Given the description of an element on the screen output the (x, y) to click on. 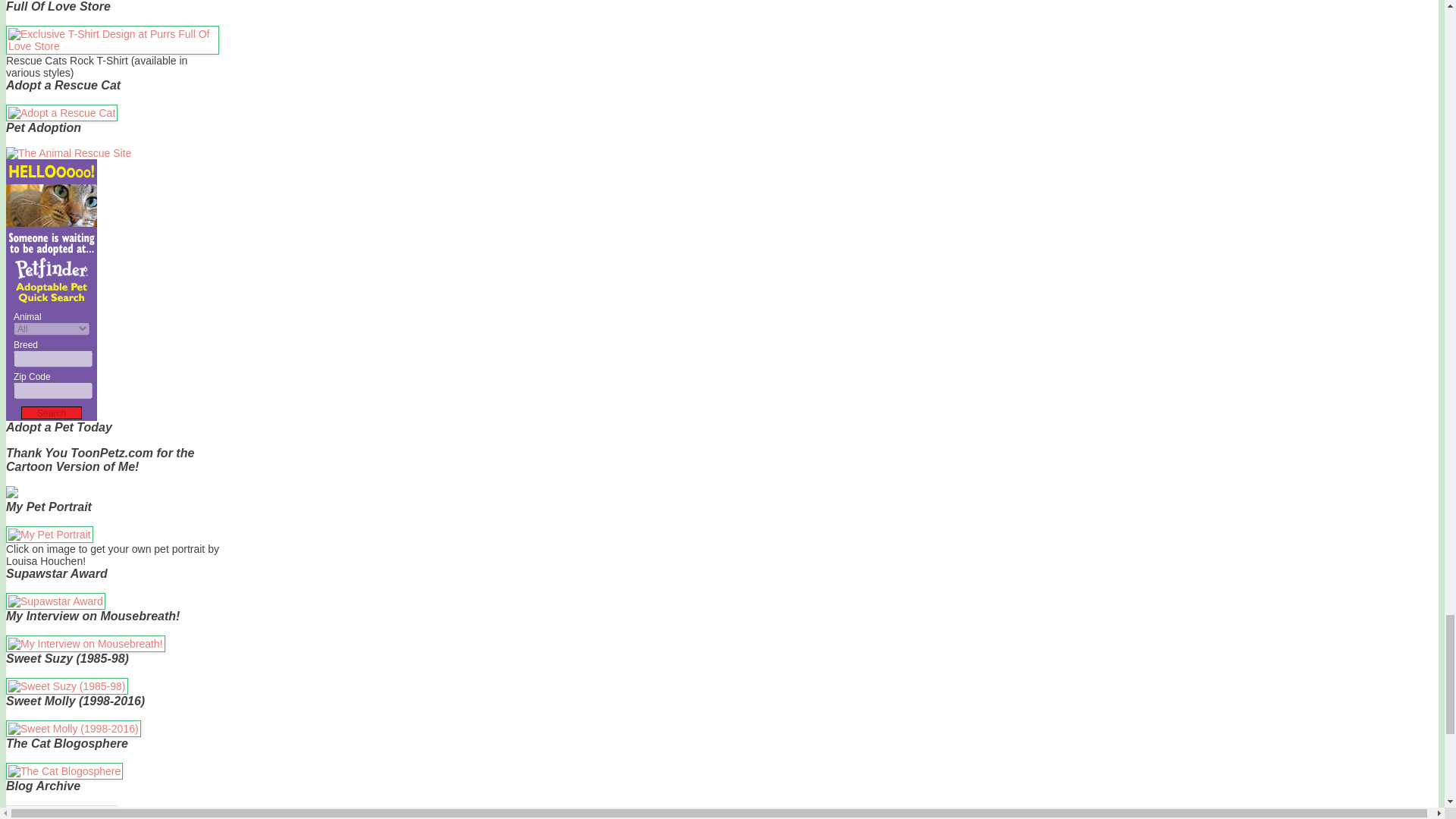
Search (51, 412)
